Given the description of an element on the screen output the (x, y) to click on. 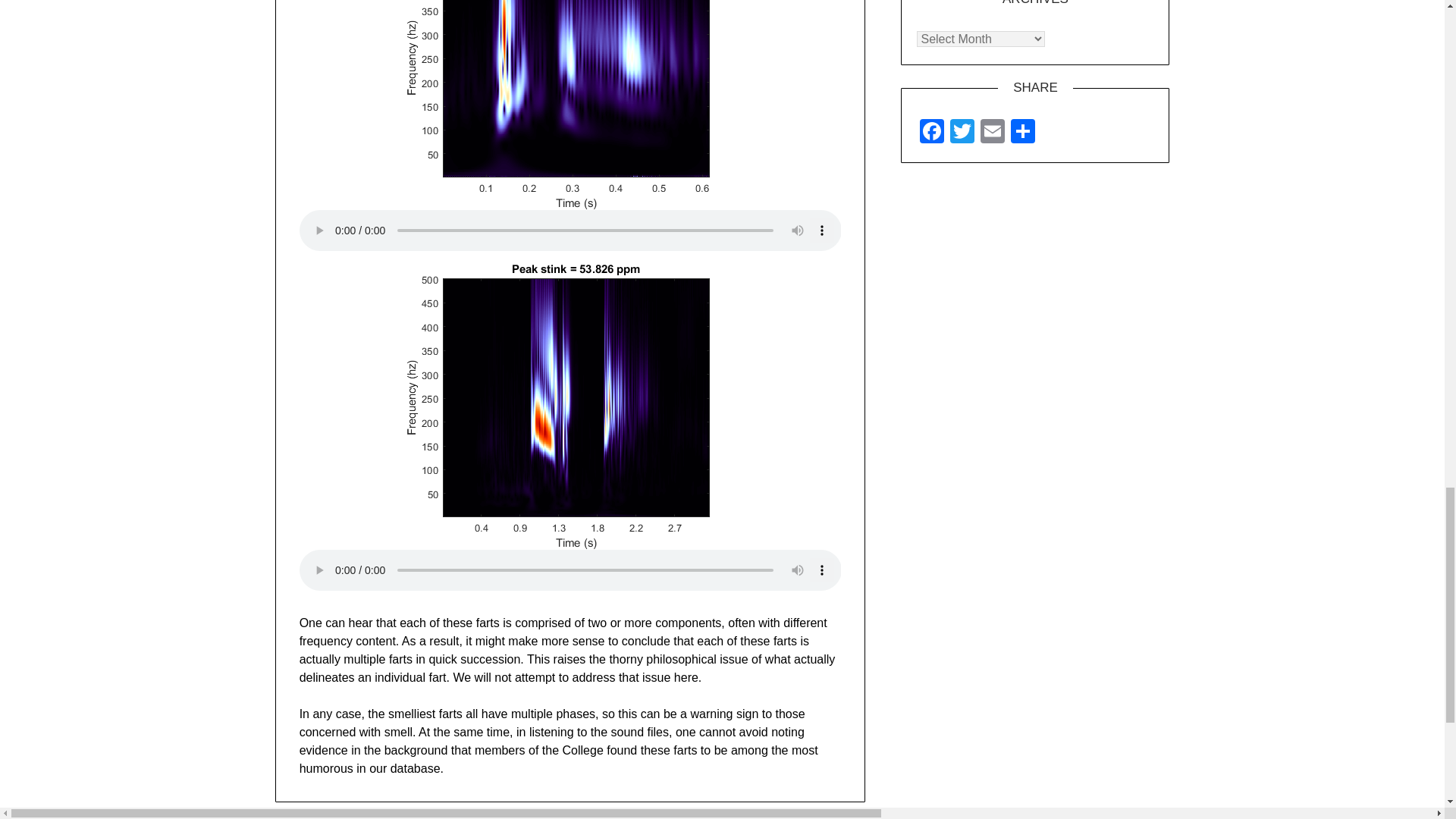
Twitter (961, 131)
Email (991, 131)
Facebook (932, 131)
